Given the description of an element on the screen output the (x, y) to click on. 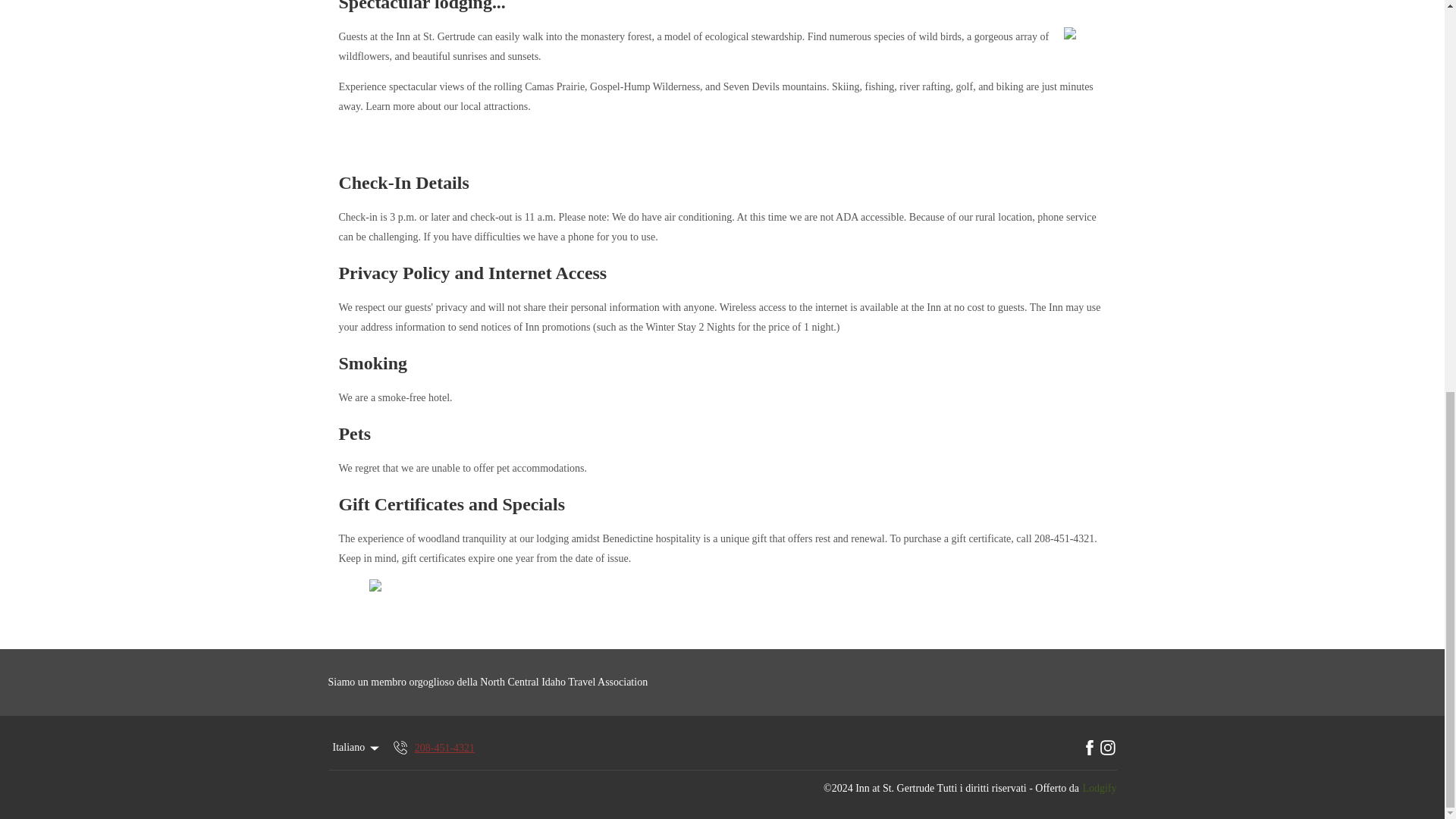
Instagram (1106, 748)
Italiano (356, 748)
Instagram (1106, 748)
208-451-4321 (432, 748)
Facebook (1088, 748)
Lodgify (1098, 788)
Facebook (1088, 748)
